Given the description of an element on the screen output the (x, y) to click on. 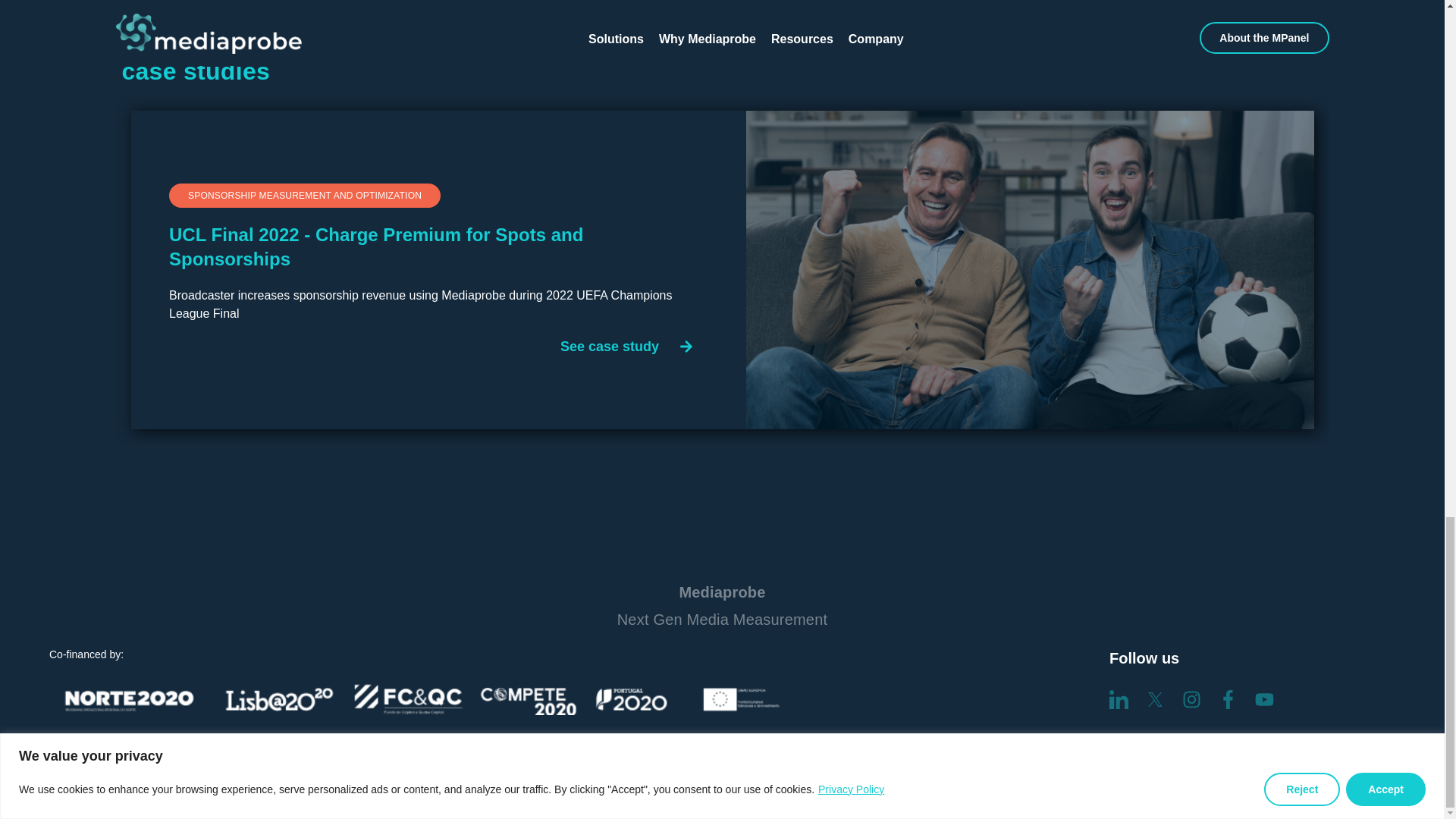
See all case studies (485, 776)
SPONSORSHIP MEASUREMENT AND OPTIMIZATION (722, 611)
UCL Final 2022 - Charge Premium for Spots and Sponsorships (300, 51)
See case study (1179, 50)
Follow us (430, 195)
